Given the description of an element on the screen output the (x, y) to click on. 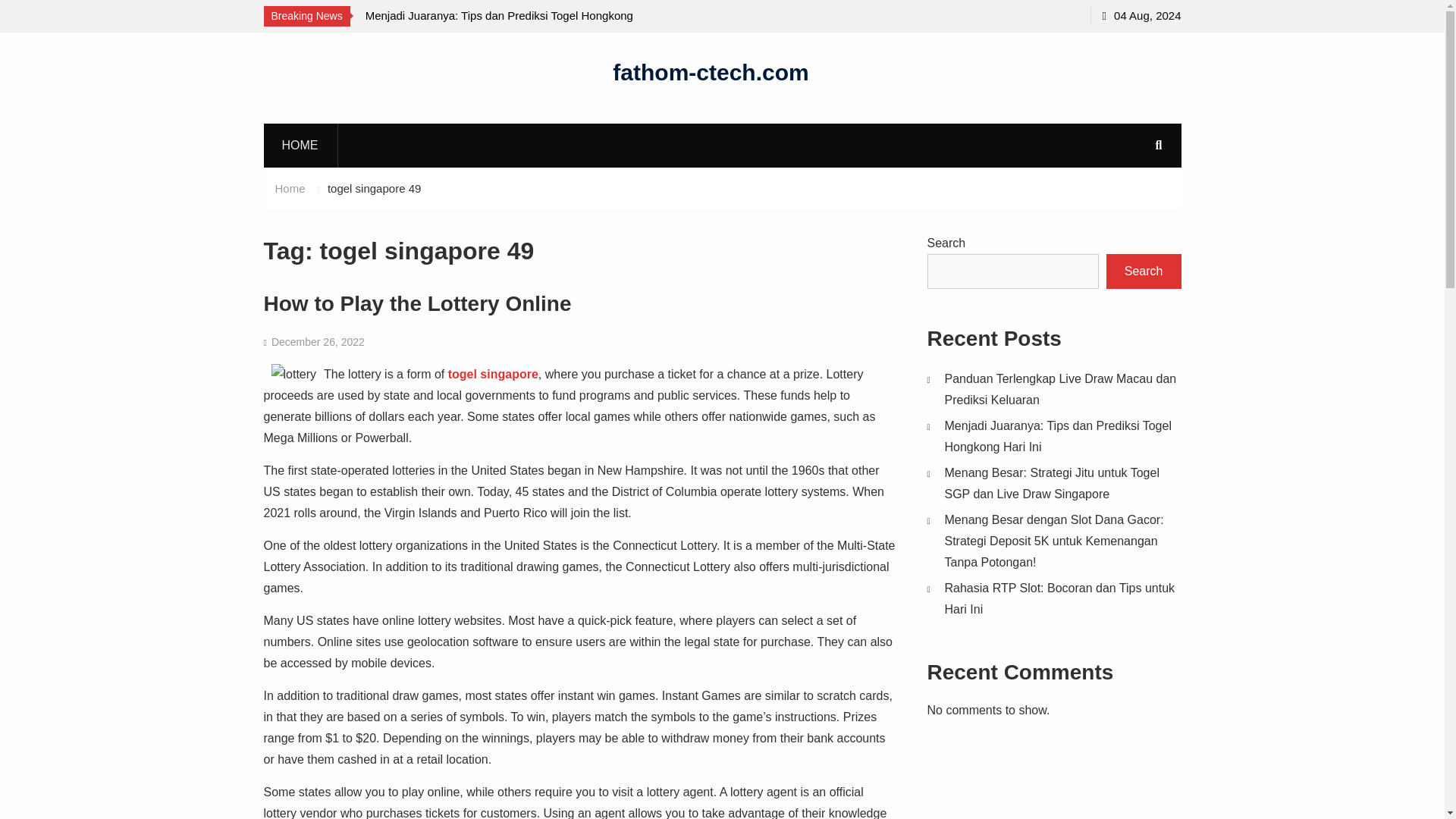
togel singapore (493, 373)
How to Play the Lottery Online (417, 303)
Panduan Terlengkap Live Draw Macau dan Prediksi Keluaran (213, 25)
Menjadi Juaranya: Tips dan Prediksi Togel Hongkong Hari Ini (502, 25)
HOME (299, 144)
fathom-ctech.com (710, 71)
Home (289, 187)
December 26, 2022 (317, 341)
